Given the description of an element on the screen output the (x, y) to click on. 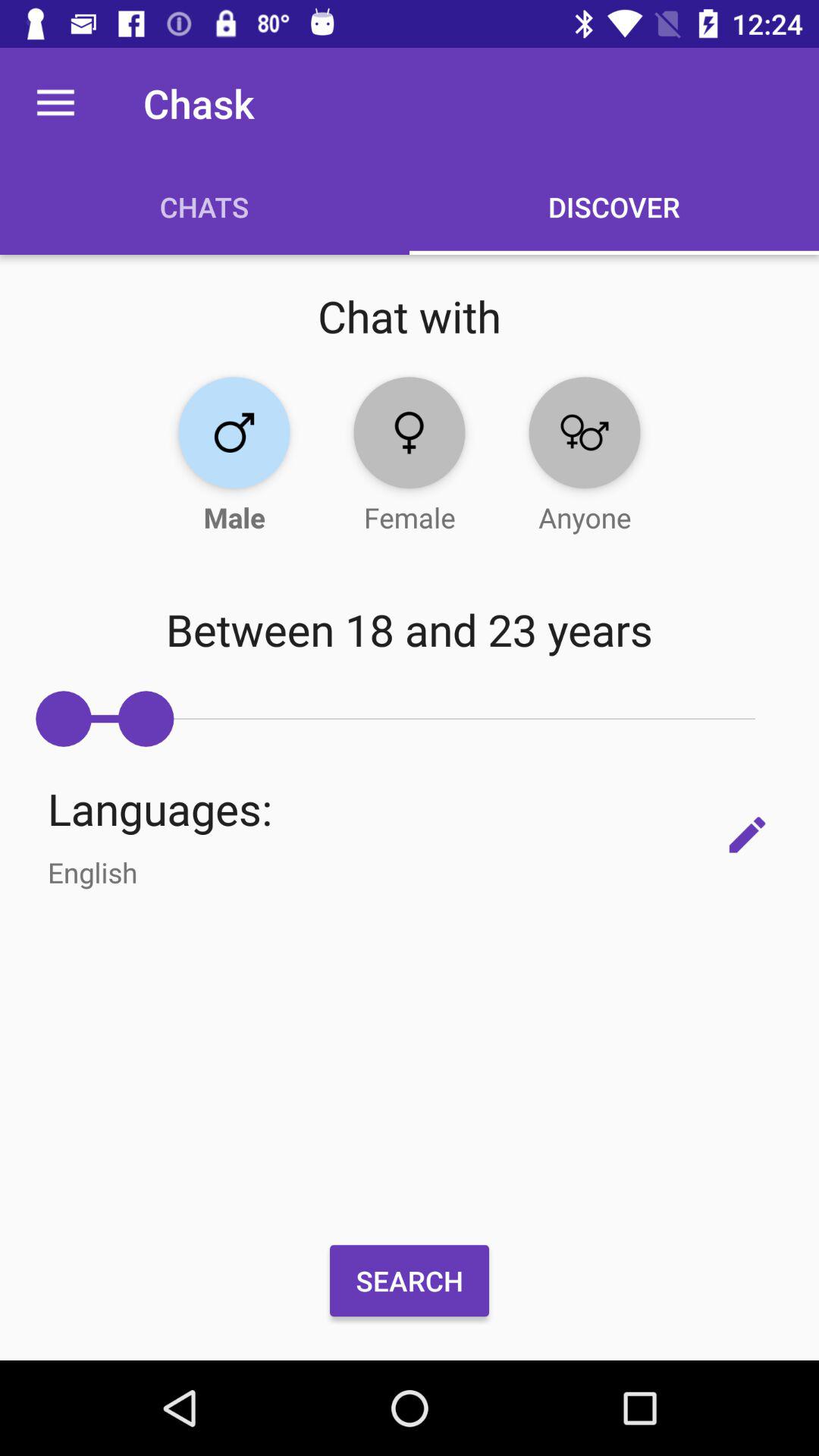
chat with anyone (584, 432)
